Given the description of an element on the screen output the (x, y) to click on. 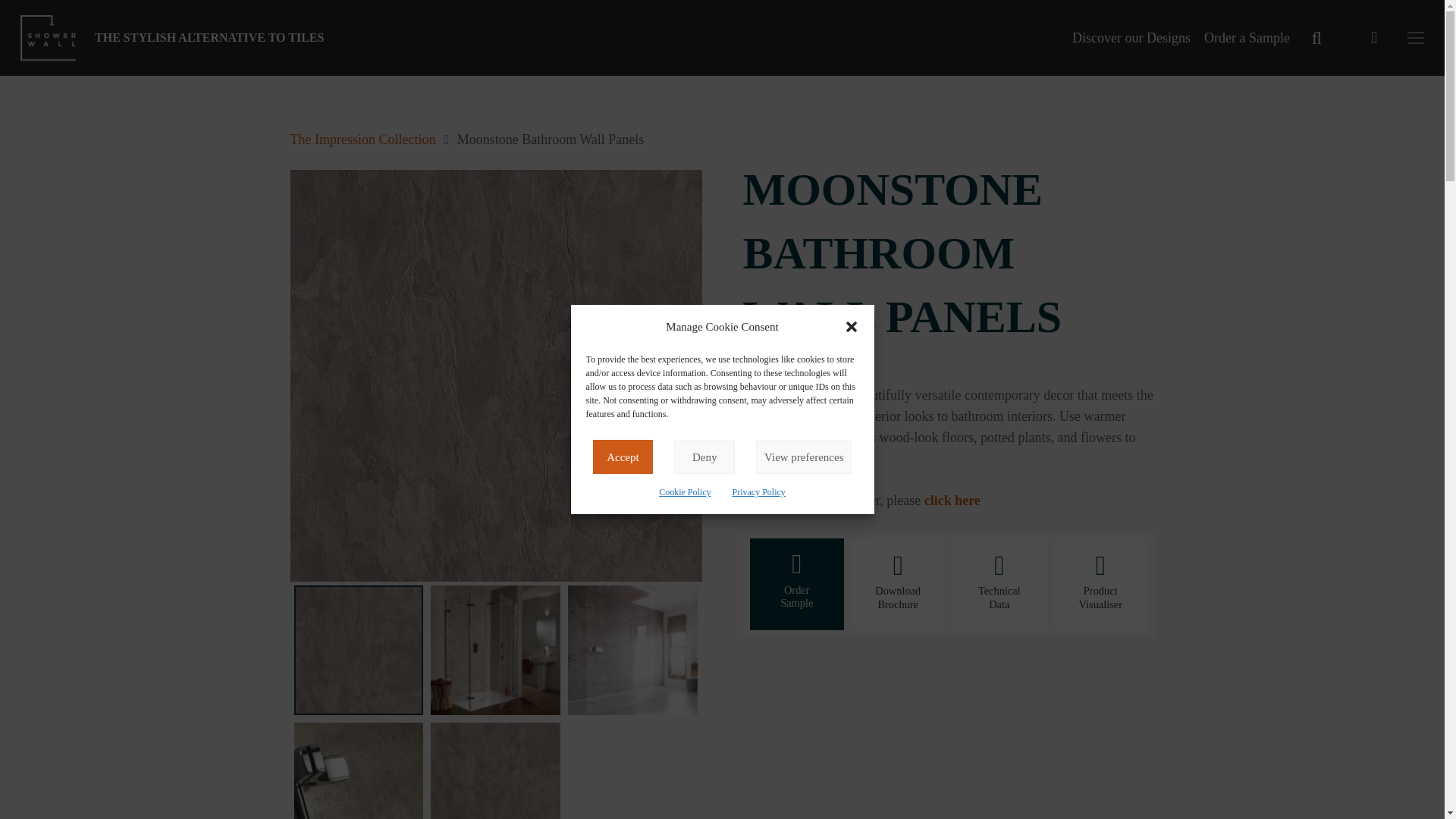
Order a Sample (1247, 37)
View preferences (803, 456)
Discover our Designs (1131, 37)
Deny (704, 456)
Accept (622, 456)
Cookie Policy (684, 491)
Privacy Policy (759, 491)
